Given the description of an element on the screen output the (x, y) to click on. 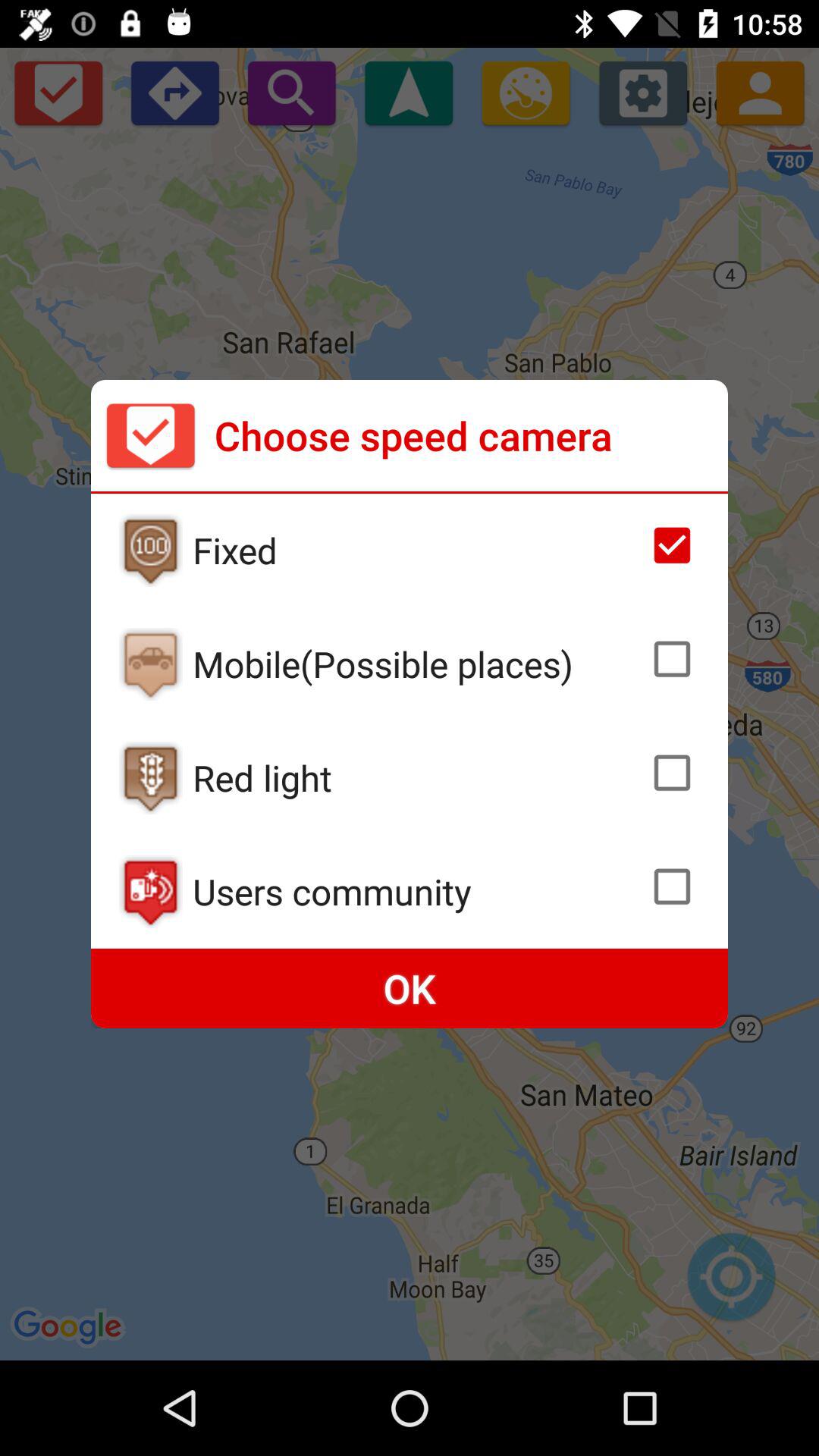
open the icon to the left of choose speed camera icon (150, 435)
